Given the description of an element on the screen output the (x, y) to click on. 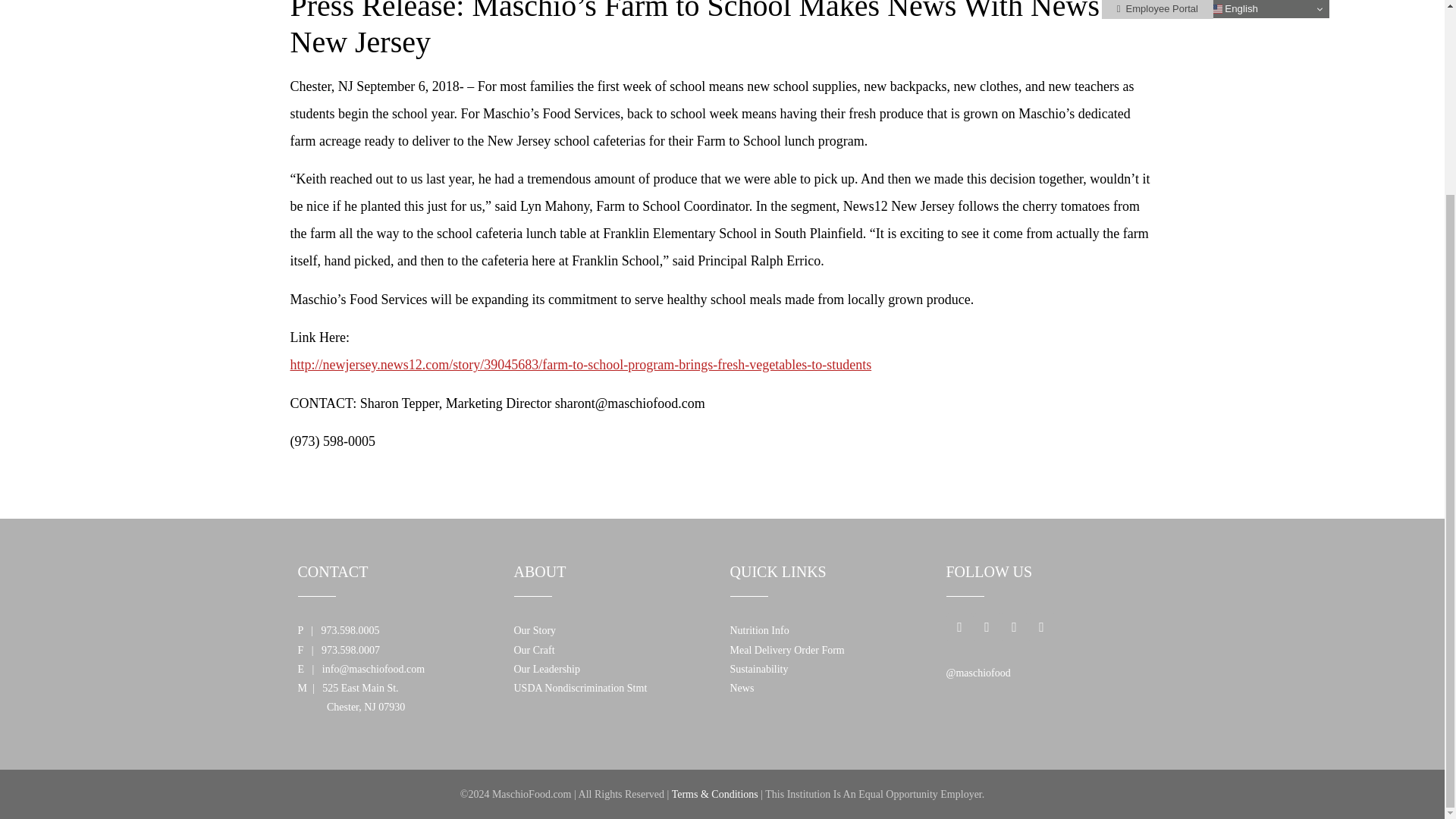
Our Craft (533, 650)
Nutrition Info (759, 630)
Our Leadership (546, 668)
Our Story (534, 630)
Sustainability (758, 668)
USDA Nondiscrimination Stmt (580, 687)
Meal Delivery Order Form (786, 650)
